Given the description of an element on the screen output the (x, y) to click on. 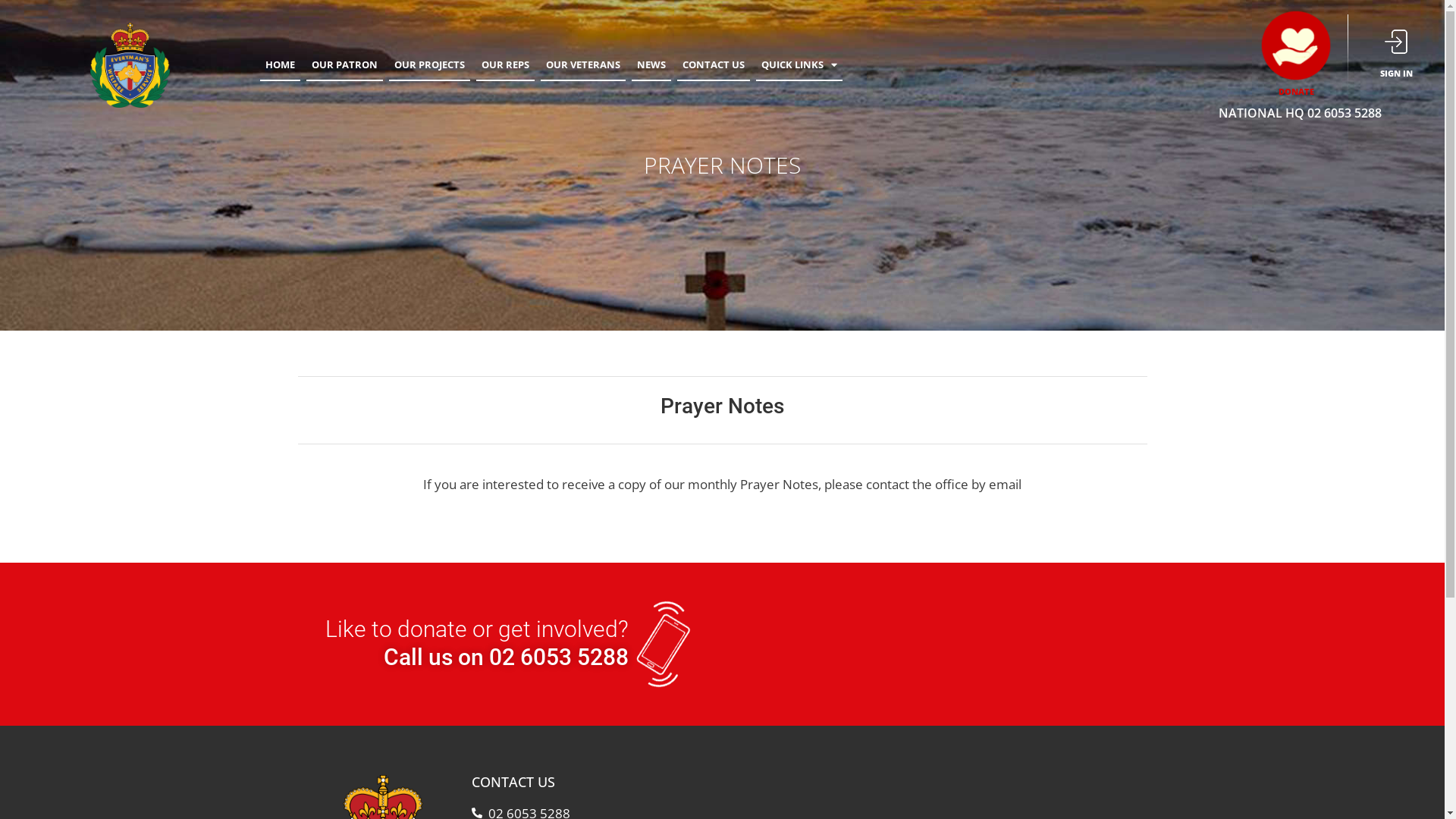
HOME Element type: text (280, 65)
CONTACT US Element type: text (713, 65)
NEWS Element type: text (651, 65)
OUR PROJECTS Element type: text (429, 65)
QUICK LINKS Element type: text (799, 65)
DONATE Element type: text (1296, 91)
OUR VETERANS Element type: text (582, 65)
SIGN IN Element type: text (1396, 72)
OUR REPS Element type: text (505, 65)
OUR PATRON Element type: text (344, 65)
